Given the description of an element on the screen output the (x, y) to click on. 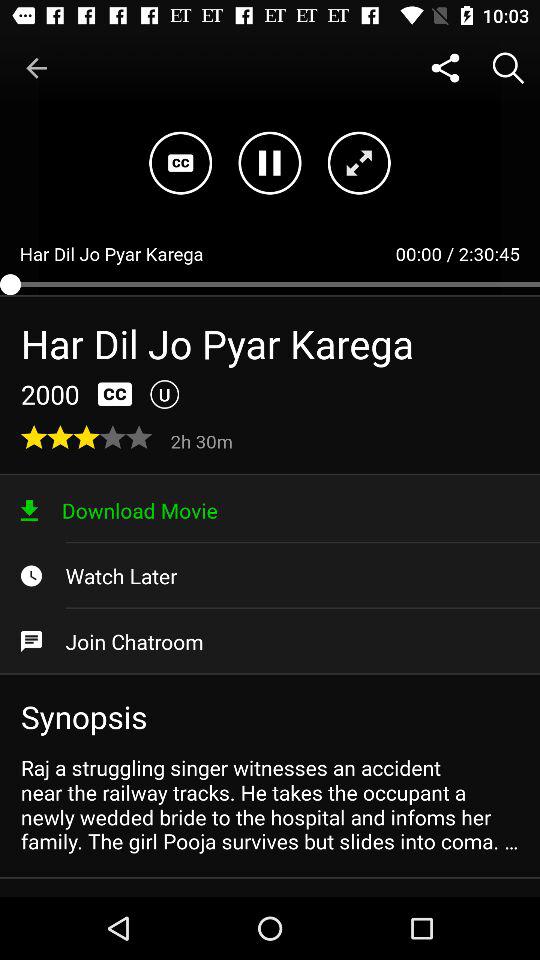
launch the item above har dil jo icon (36, 68)
